Given the description of an element on the screen output the (x, y) to click on. 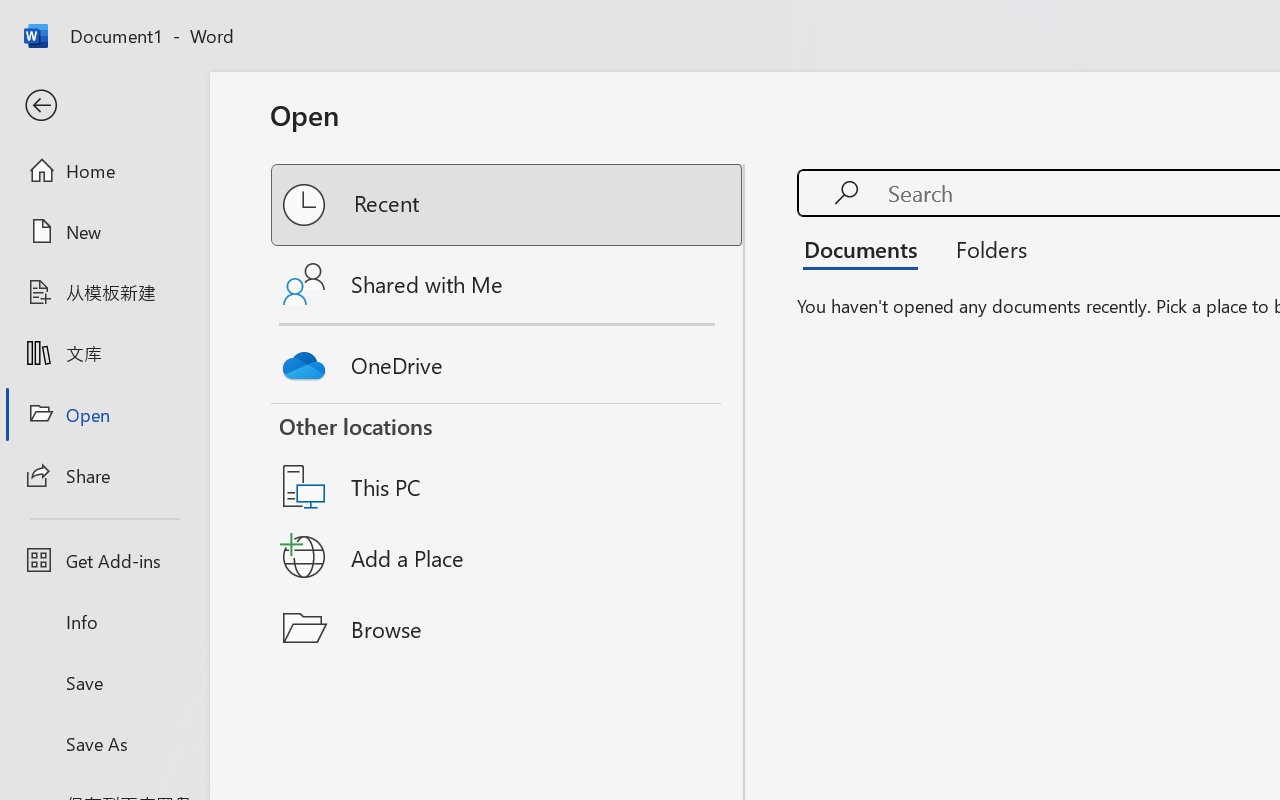
OneDrive (507, 359)
Recent (507, 205)
Documents (866, 248)
Folders (984, 248)
Add a Place (507, 557)
This PC (507, 461)
New (104, 231)
Back (104, 106)
Browse (507, 627)
